Given the description of an element on the screen output the (x, y) to click on. 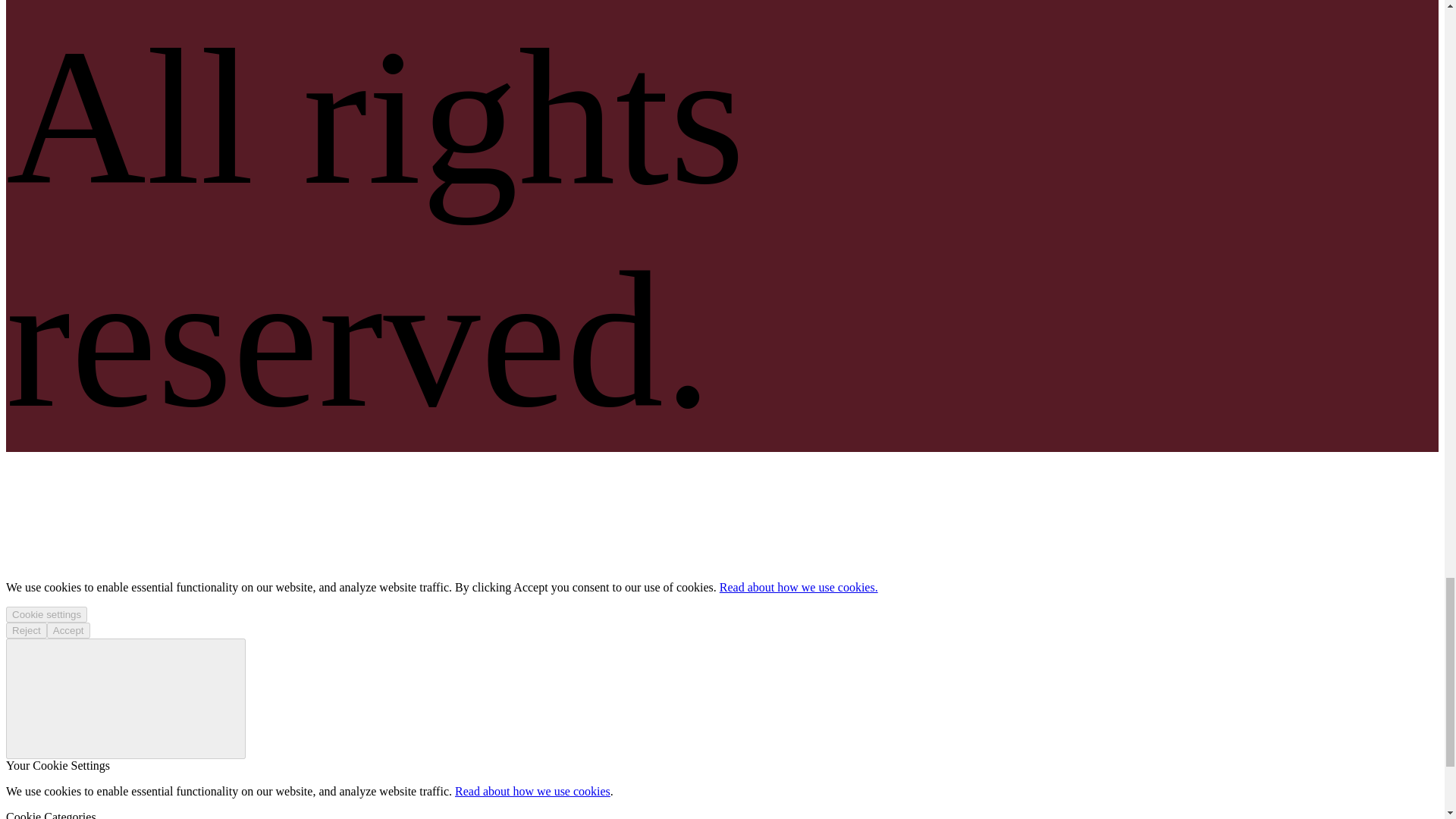
Reject (25, 630)
Cookie settings (46, 614)
Read about how we use cookies. (798, 586)
Accept (68, 630)
Read about how we use cookies (532, 790)
